Given the description of an element on the screen output the (x, y) to click on. 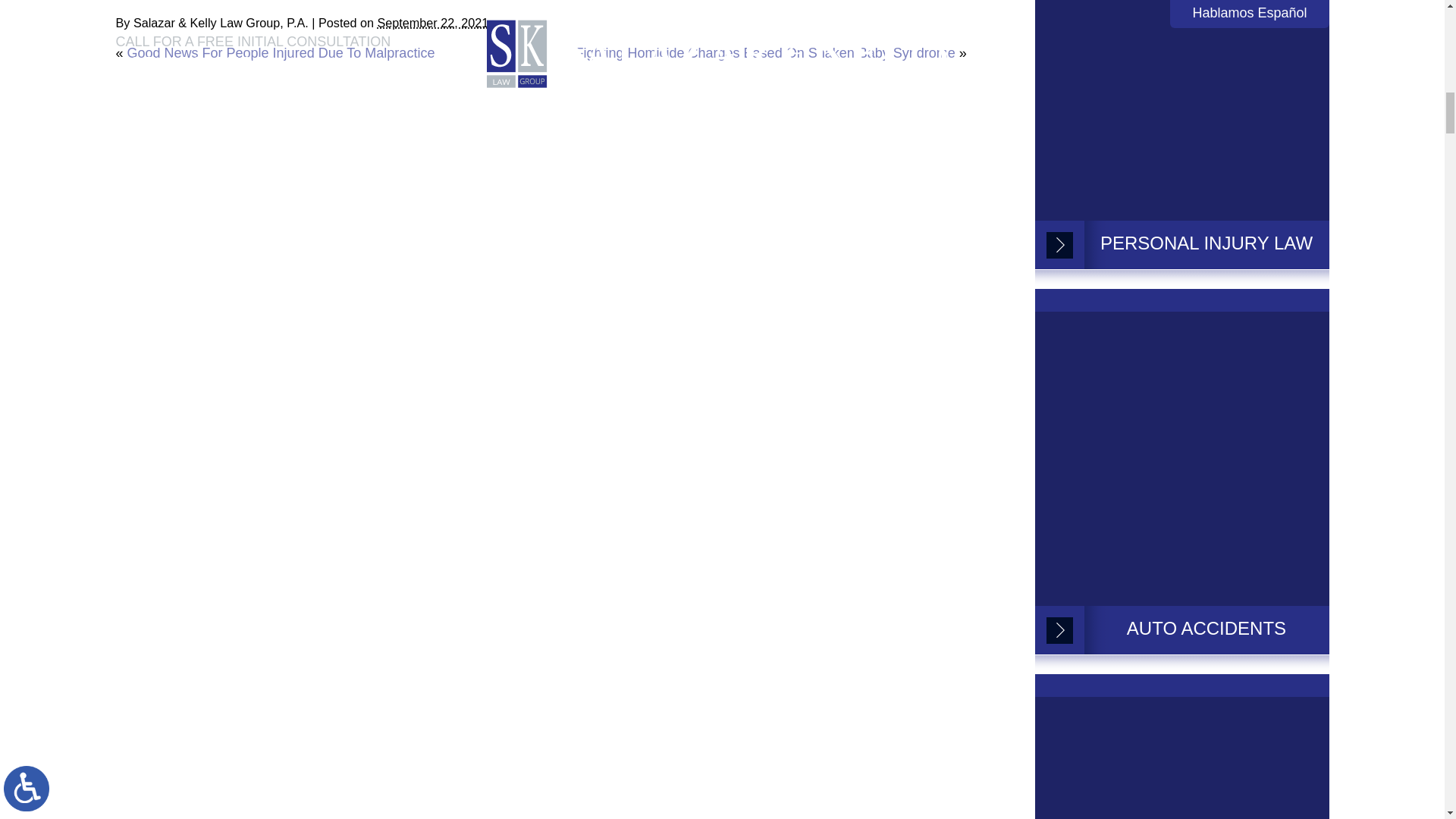
2021-09-22T03:00:59-0700 (432, 22)
